Given the description of an element on the screen output the (x, y) to click on. 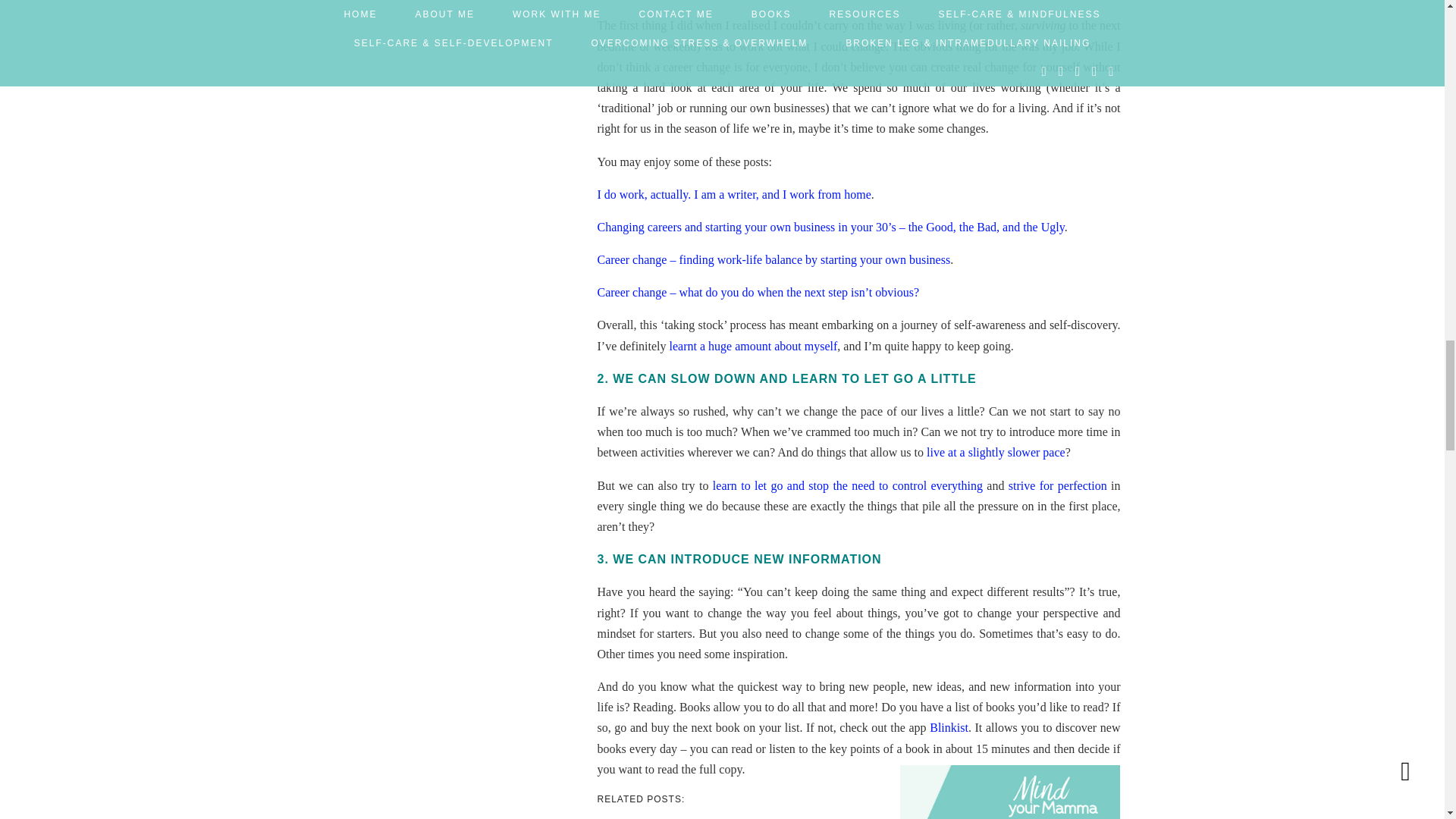
learn to let go and stop the need to control everything (847, 485)
I do work, actually. I am a writer, and I work from home (733, 194)
strive for perfection (1057, 485)
learnt a huge amount about myself (753, 345)
live at a slightly slower pace (995, 451)
Blinkist (949, 727)
